Given the description of an element on the screen output the (x, y) to click on. 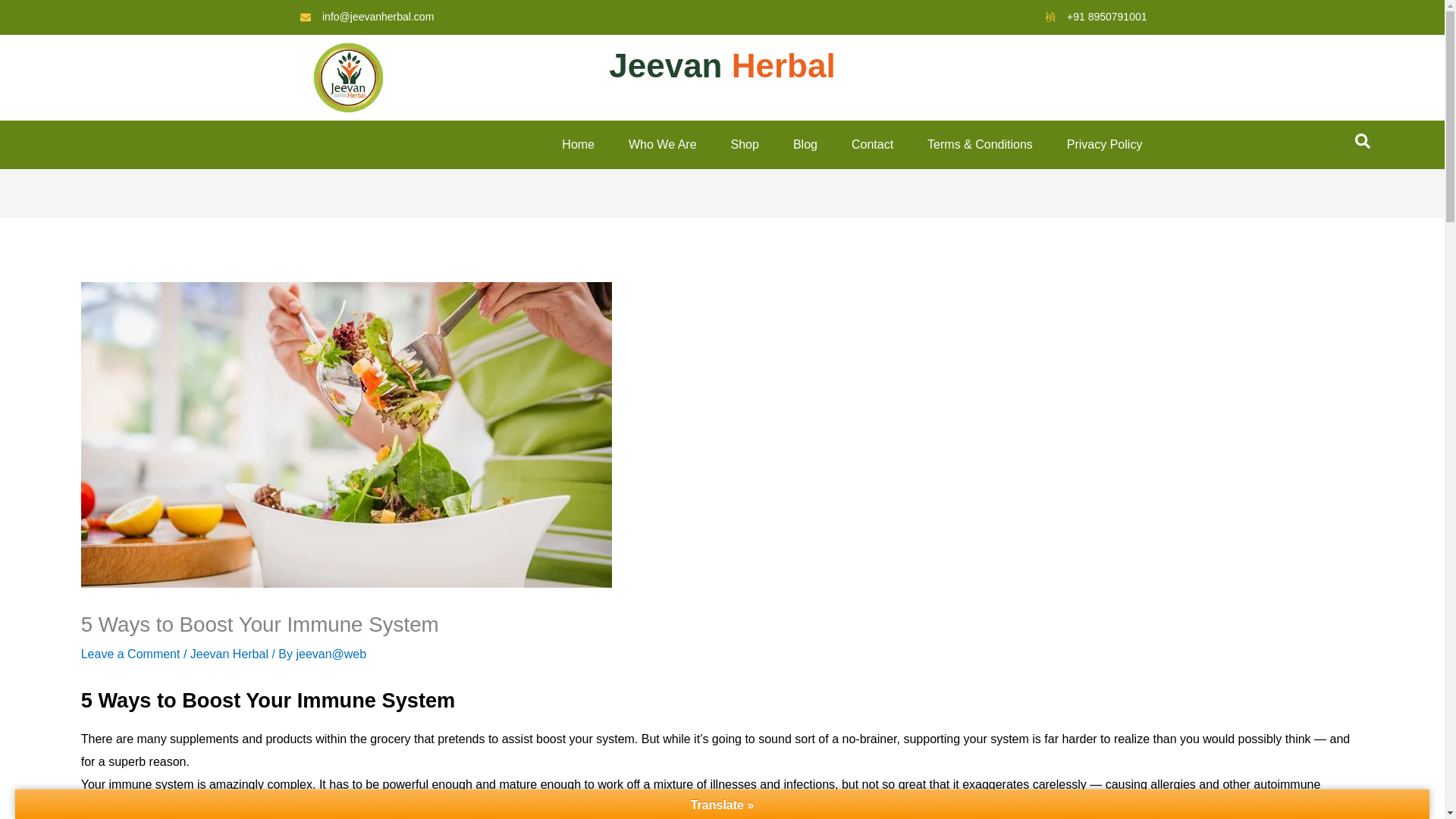
Contact (854, 144)
Leave a Comment (130, 653)
Shop (727, 144)
Privacy Policy (1087, 144)
Blog (787, 144)
Jeevan Herbal (228, 653)
Home (560, 144)
Who We Are (645, 144)
